Given the description of an element on the screen output the (x, y) to click on. 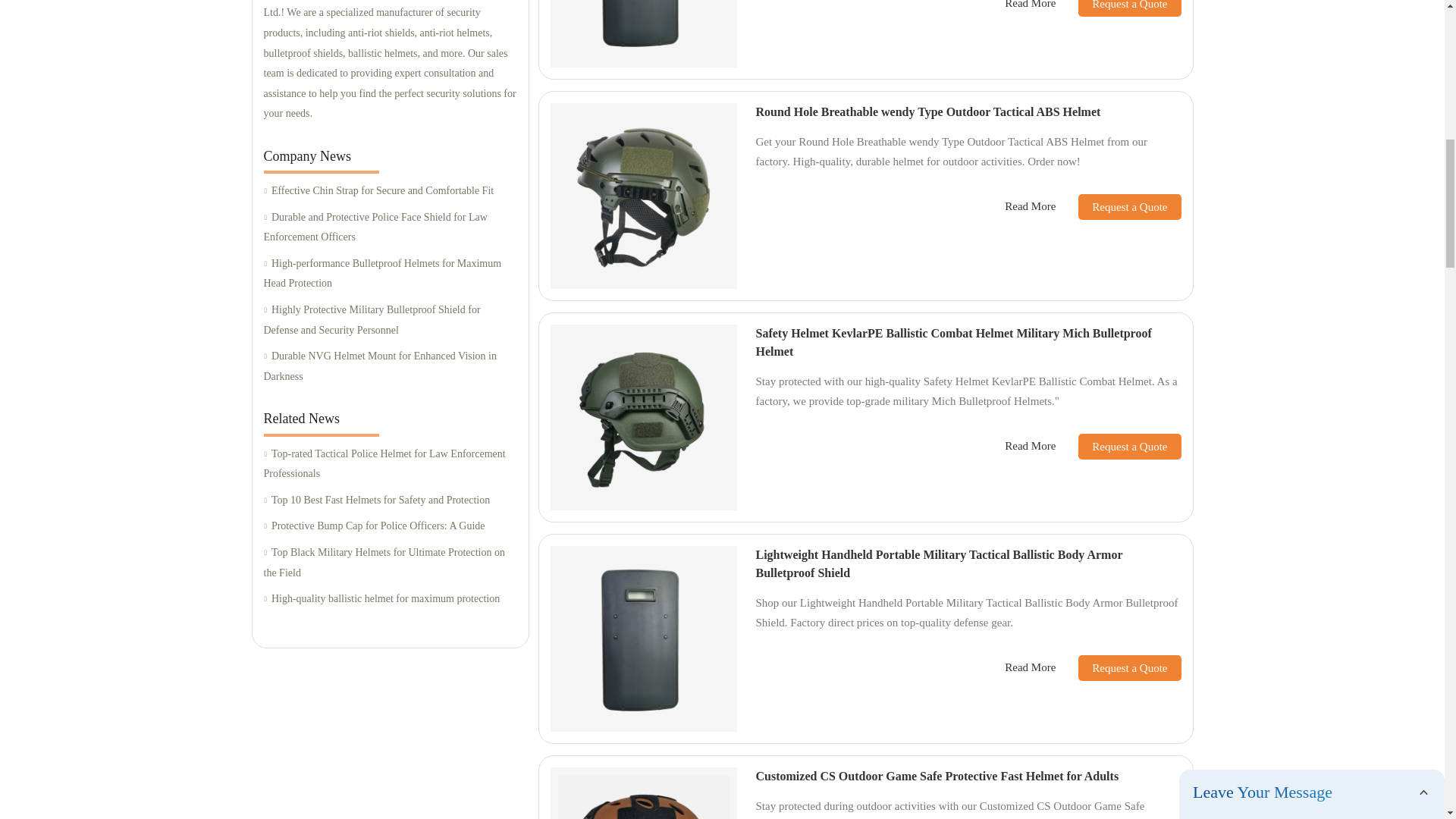
Effective Chin Strap for Secure and Comfortable Fit (389, 190)
Round Hole Breathable wendy Type Outdoor Tactical ABS Helmet (927, 111)
Top 10 Best Fast Helmets for Safety and Protection (389, 500)
Durable NVG Helmet Mount for Enhanced Vision in Darkness (389, 366)
Request a Quote (1117, 8)
Request a Quote (1117, 207)
Read More (1029, 6)
Read More (1029, 206)
Protective Bump Cap for Police Officers: A Guide (389, 526)
